Given the description of an element on the screen output the (x, y) to click on. 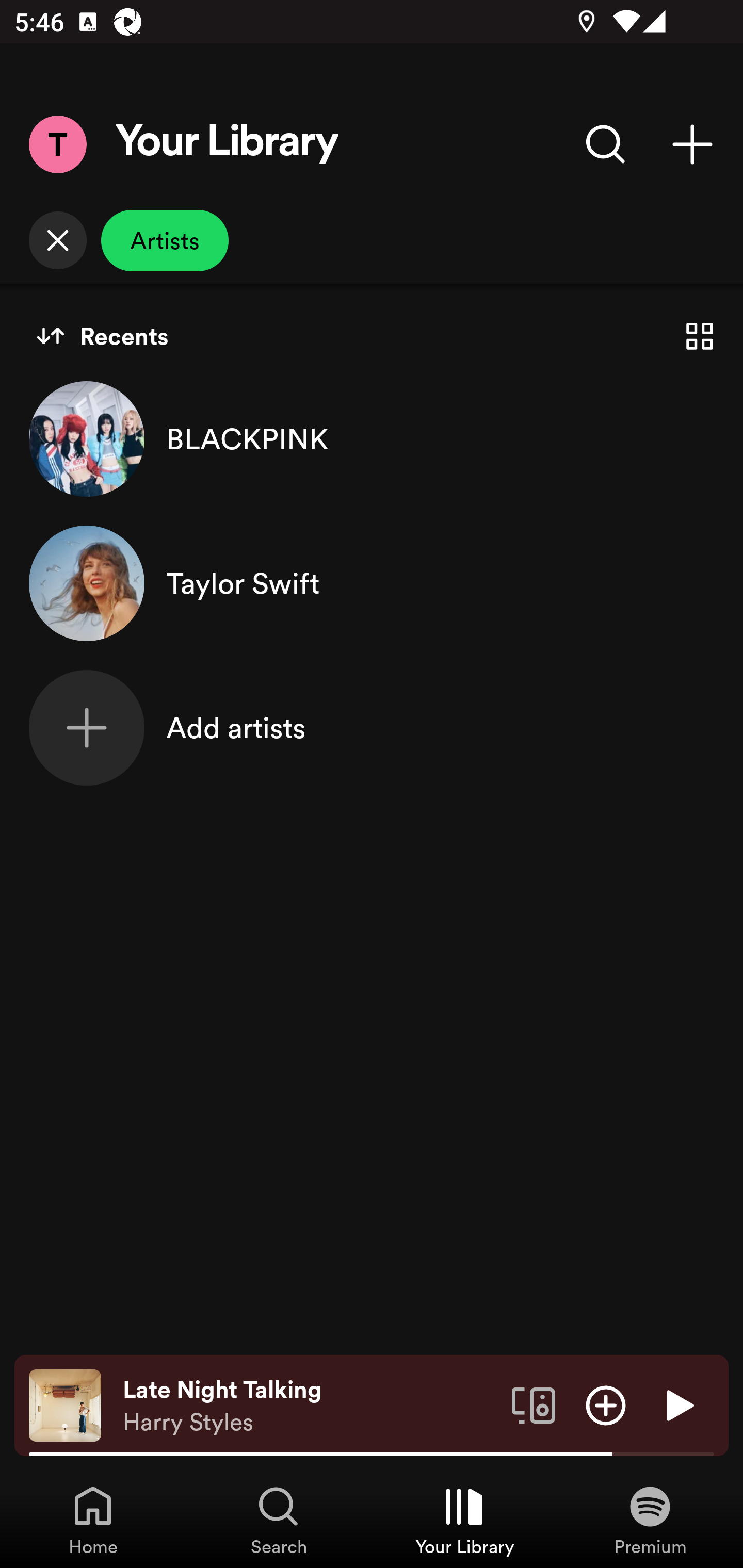
Menu (57, 144)
Search Your Library (605, 144)
Create playlist (692, 144)
Your Library Your Library Heading (226, 144)
Clear Filters (57, 240)
Artists, show only artists. (164, 240)
Recents (101, 336)
Show Grid view (699, 336)
BLACKPINK,  BLACKPINK (371, 439)
Taylor Swift,  Taylor Swift (371, 583)
Add artists,  Add artists (371, 727)
Late Night Talking Harry Styles (309, 1405)
The cover art of the currently playing track (64, 1404)
Connect to a device. Opens the devices menu (533, 1404)
Add item (605, 1404)
Play (677, 1404)
Home, Tab 1 of 4 Home Home (92, 1519)
Search, Tab 2 of 4 Search Search (278, 1519)
Your Library, Tab 3 of 4 Your Library Your Library (464, 1519)
Premium, Tab 4 of 4 Premium Premium (650, 1519)
